Given the description of an element on the screen output the (x, y) to click on. 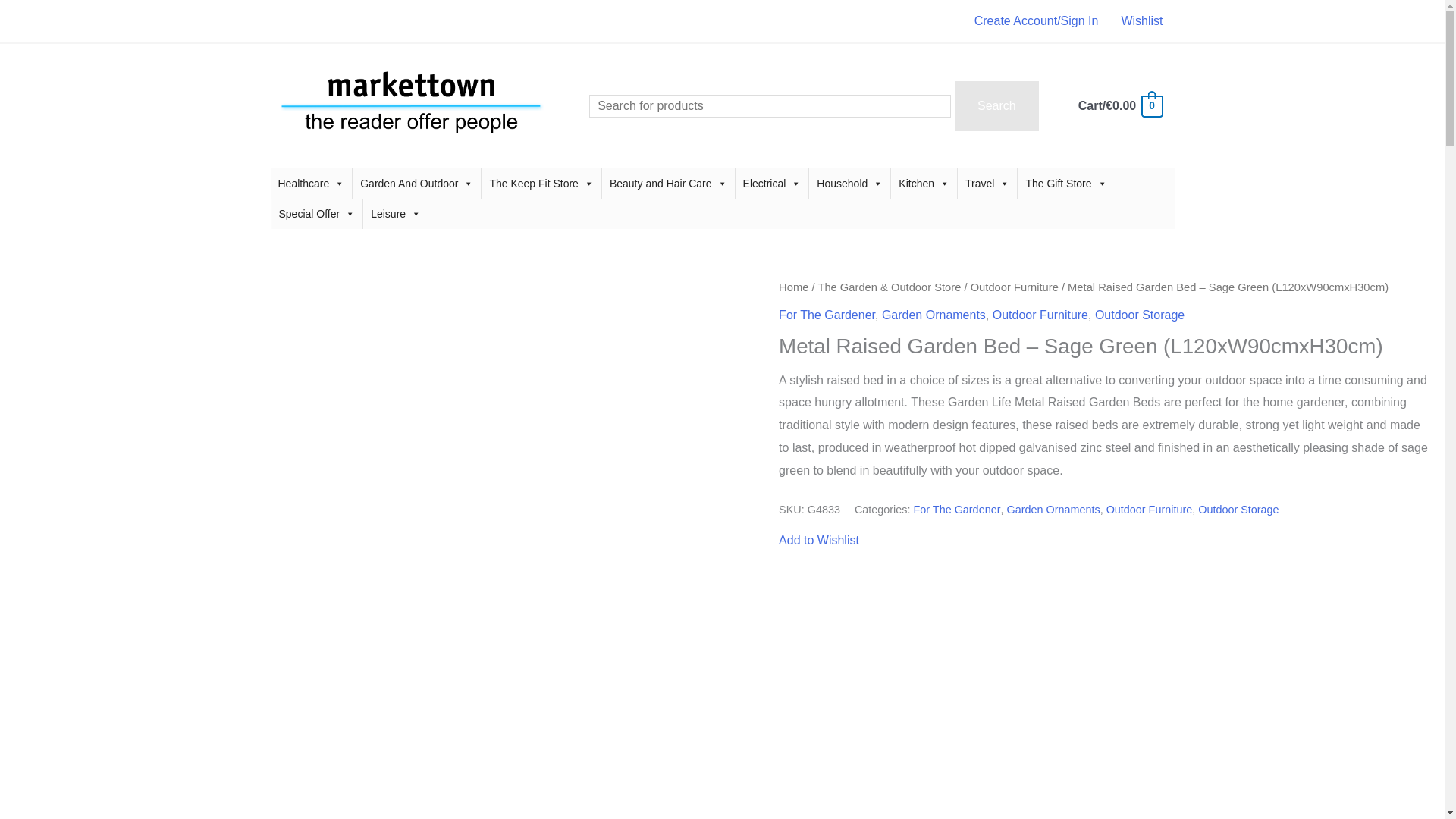
cropped-Markettown-Logo.png (410, 105)
Wishlist (1141, 21)
Search (997, 106)
Healthcare (310, 183)
Search (997, 106)
Search (997, 106)
Garden And Outdoor (416, 183)
